Given the description of an element on the screen output the (x, y) to click on. 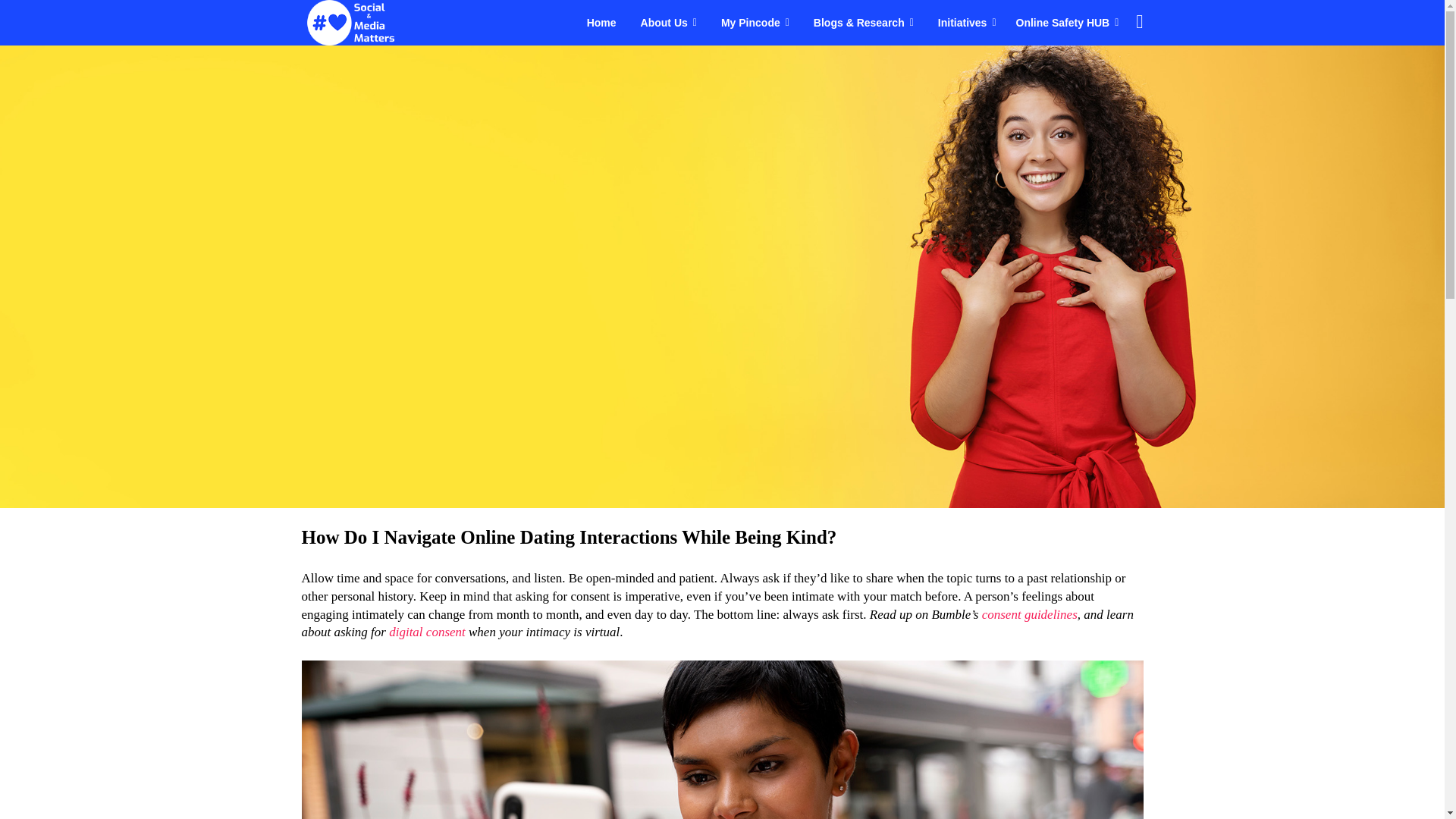
Home (601, 22)
digital consent (426, 631)
How To Navigate Online Interactions While Being Kind? (721, 739)
consent guidelines (1029, 614)
